Given the description of an element on the screen output the (x, y) to click on. 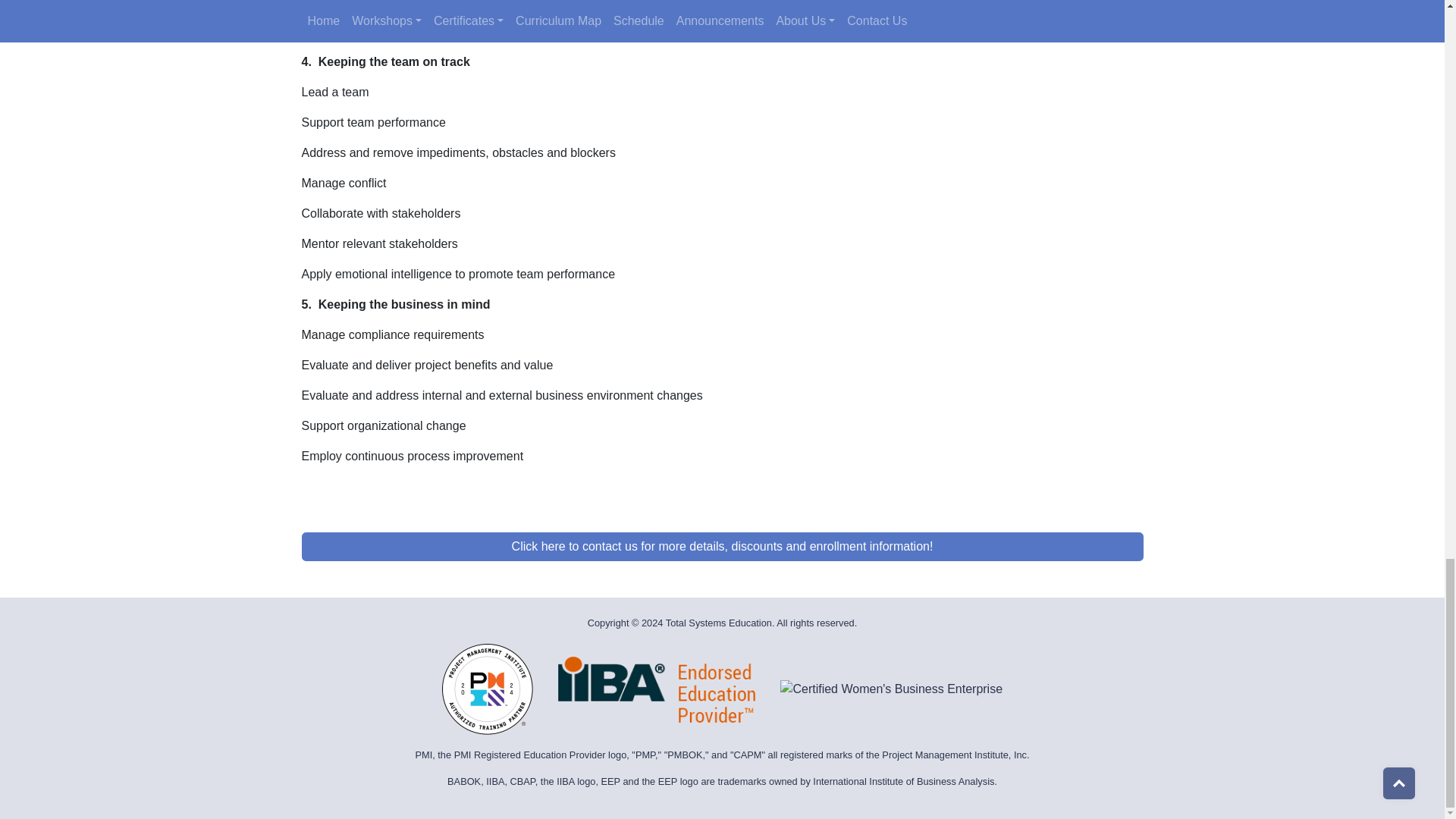
IIBA Endorsed Education Provider (657, 689)
Certified Women's Business Enterprise (891, 689)
Project Management Institute Authorized Training Partner (487, 688)
